Given the description of an element on the screen output the (x, y) to click on. 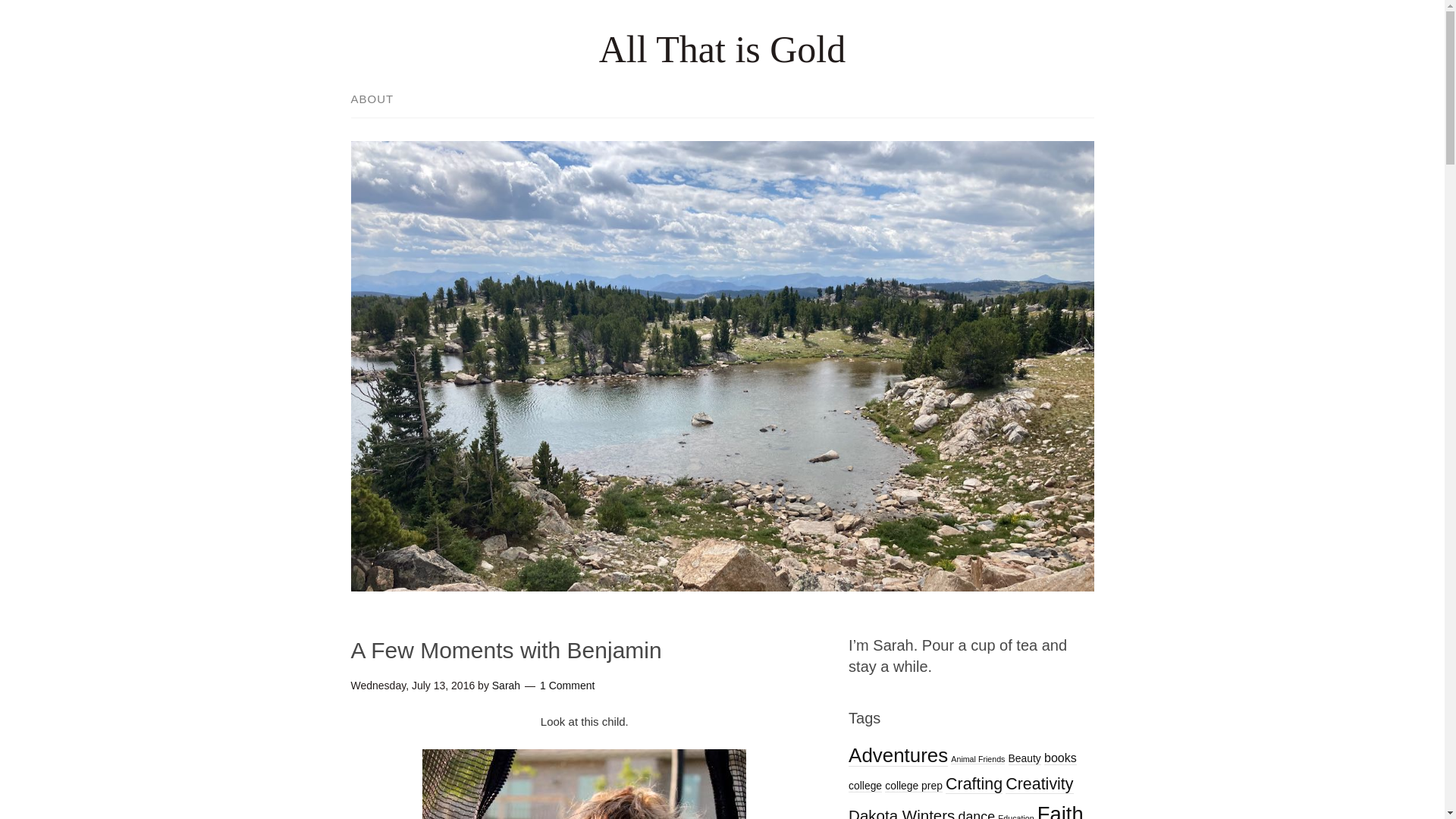
Animal Friends (977, 759)
ABOUT (379, 99)
All That is Gold  (721, 48)
Beauty (1025, 758)
Faith (1059, 810)
Sarah (505, 685)
Education (1015, 816)
books (1060, 757)
Adventures (897, 755)
college prep (913, 785)
